Given the description of an element on the screen output the (x, y) to click on. 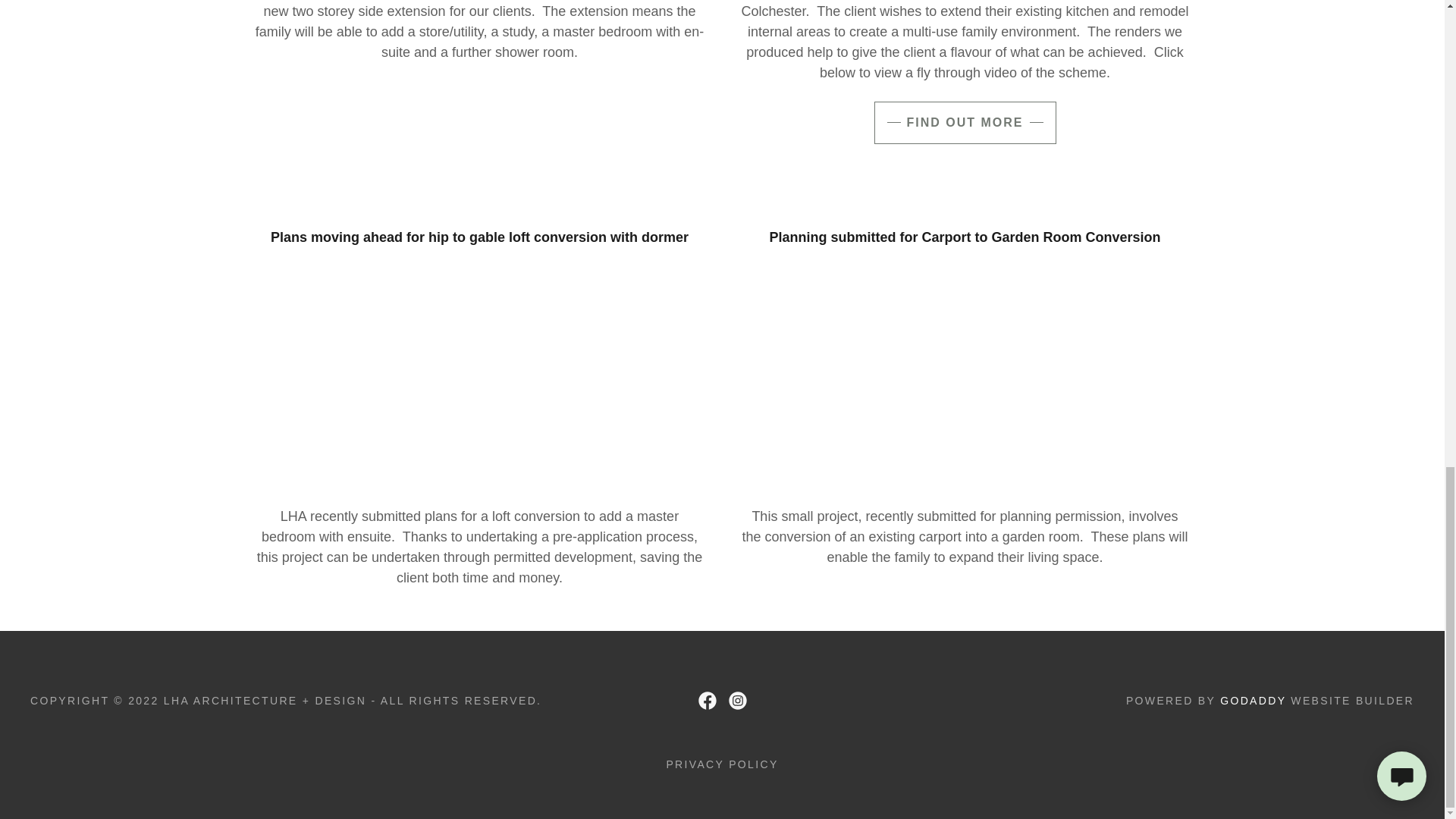
GODADDY (1252, 700)
PRIVACY POLICY (721, 764)
FIND OUT MORE (964, 122)
